Given the description of an element on the screen output the (x, y) to click on. 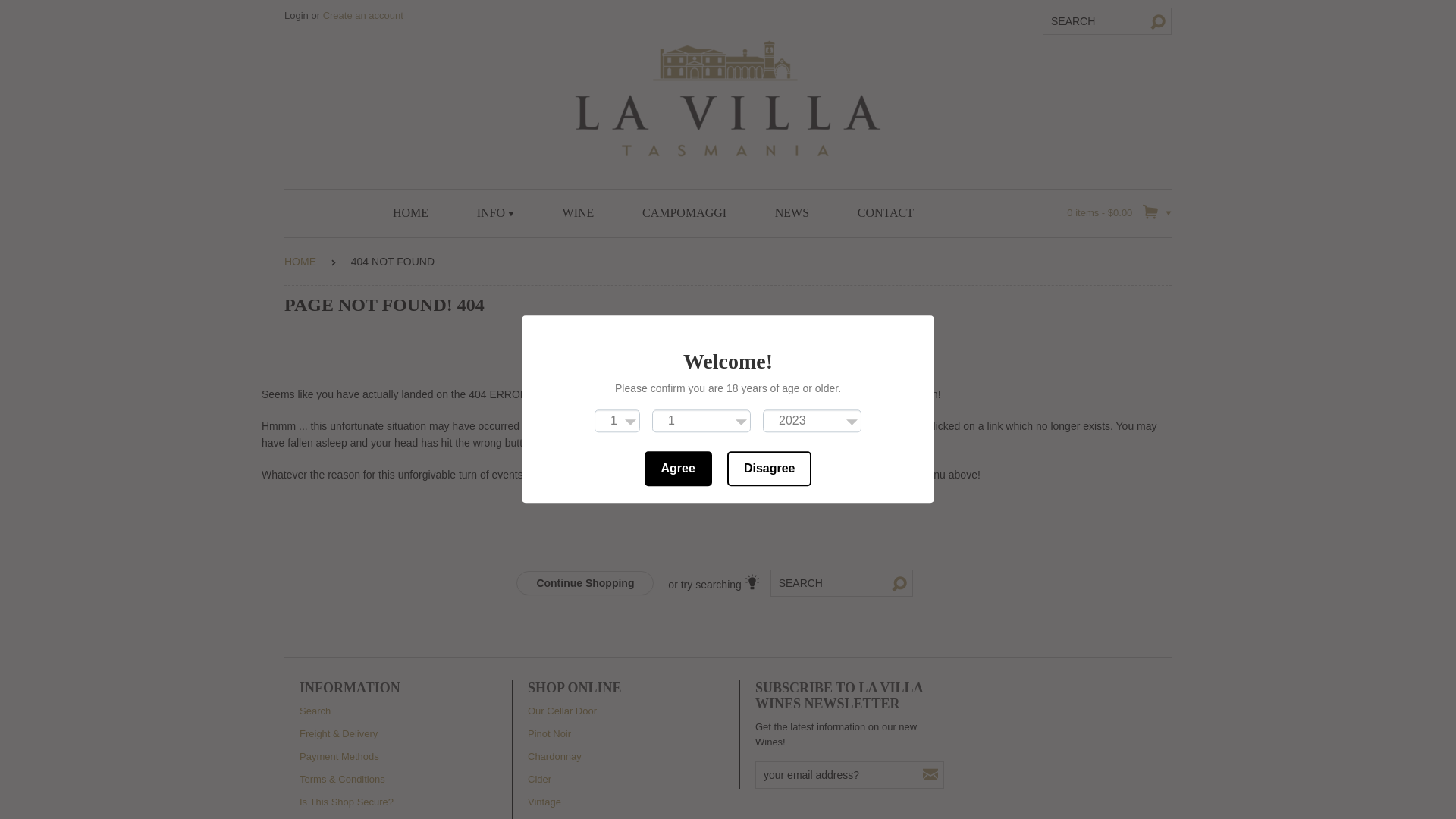
Cider Element type: text (539, 778)
CONTACT Element type: text (885, 213)
WINE Element type: text (578, 213)
INFO Element type: text (495, 213)
NEWS Element type: text (791, 213)
Freight & Delivery Element type: text (338, 733)
Our Cellar Door Element type: text (561, 710)
Terms & Conditions Element type: text (342, 778)
Payment Methods Element type: text (339, 756)
Chardonnay Element type: text (554, 756)
La Villa Wines Element type: hover (727, 97)
HOME Element type: text (410, 213)
Create an account Element type: text (363, 15)
HOME Element type: text (300, 261)
Is This Shop Secure? Element type: text (346, 801)
Disagree Element type: text (769, 468)
Search Element type: text (314, 710)
Continue Shopping Element type: text (584, 583)
Pinot Noir Element type: text (549, 733)
Vintage Element type: text (544, 801)
CAMPOMAGGI Element type: text (683, 213)
Agree Element type: text (678, 468)
0 items - $0.00 Element type: text (1118, 212)
